Given the description of an element on the screen output the (x, y) to click on. 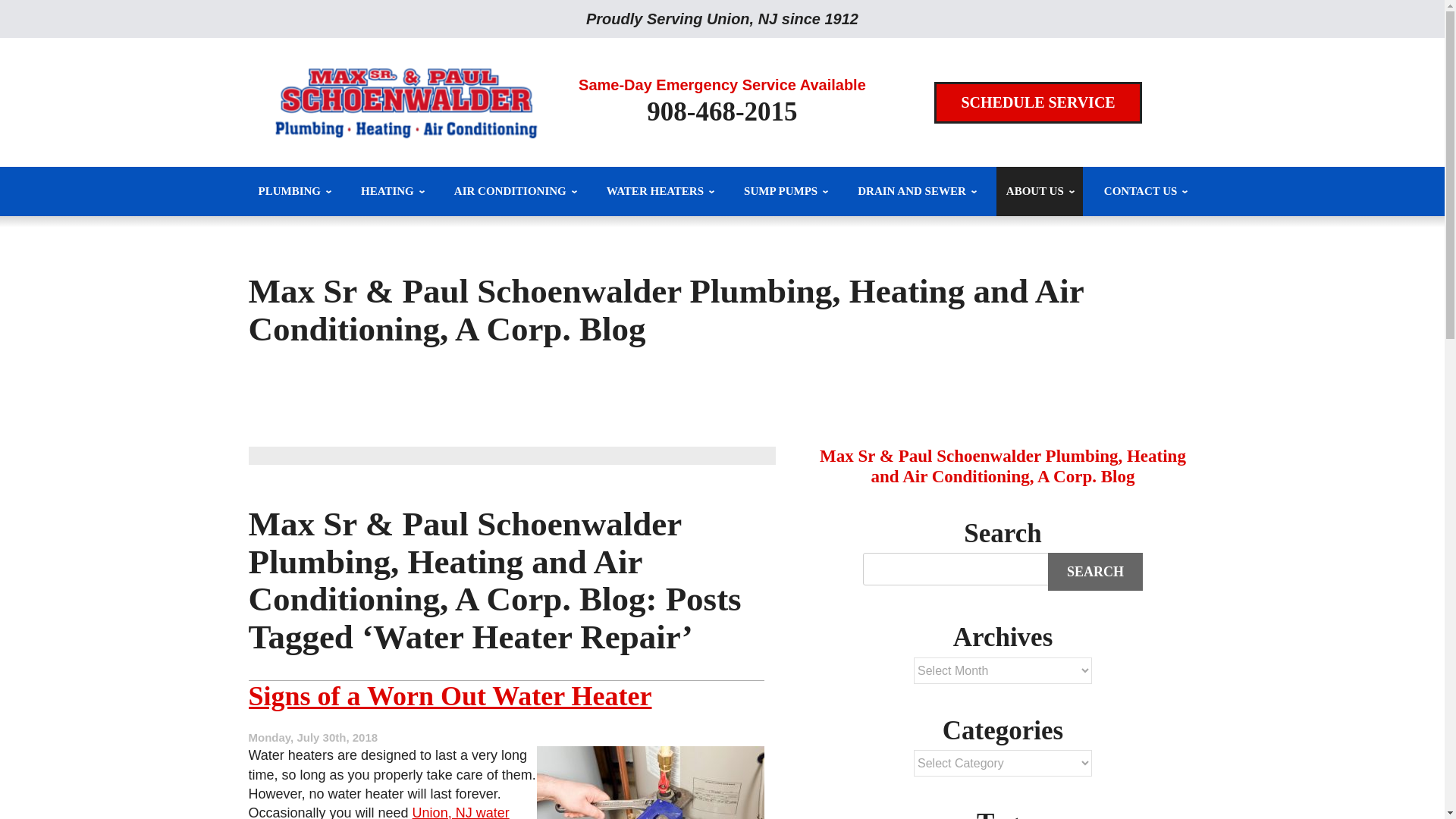
HEATING (391, 191)
908-468-2015 (721, 111)
PLUMBING (294, 191)
AIR CONDITIONING (514, 191)
SCHEDULE SERVICE (1037, 102)
Permanent Link to Signs of a Worn Out Water Heater (450, 695)
